Given the description of an element on the screen output the (x, y) to click on. 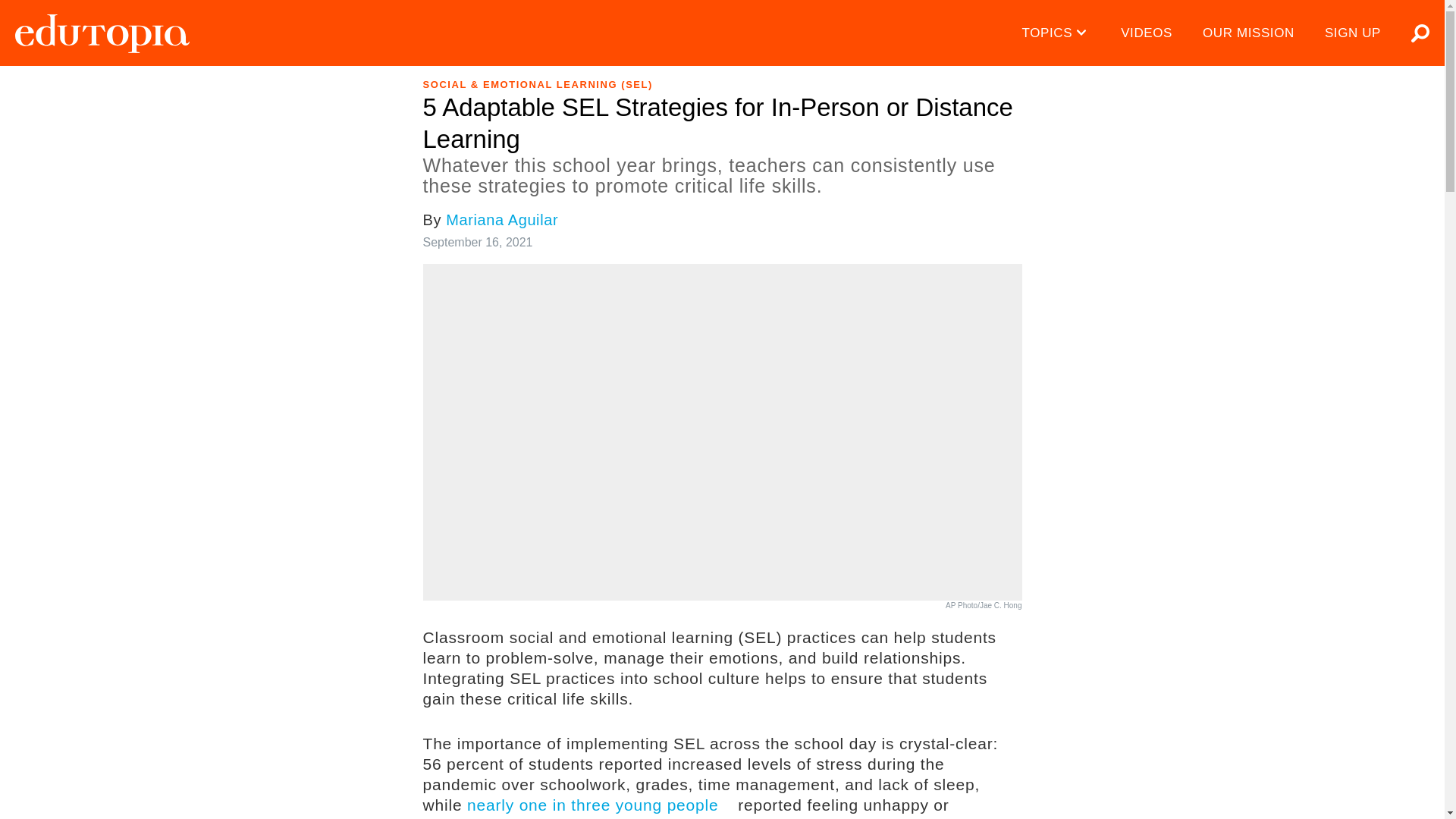
Mariana Aguilar (501, 219)
Edutopia (101, 33)
OUR MISSION (1248, 33)
TOPICS (1056, 33)
Edutopia (101, 33)
VIDEOS (1146, 33)
SIGN UP (1352, 33)
nearly one in three young people (600, 805)
